Given the description of an element on the screen output the (x, y) to click on. 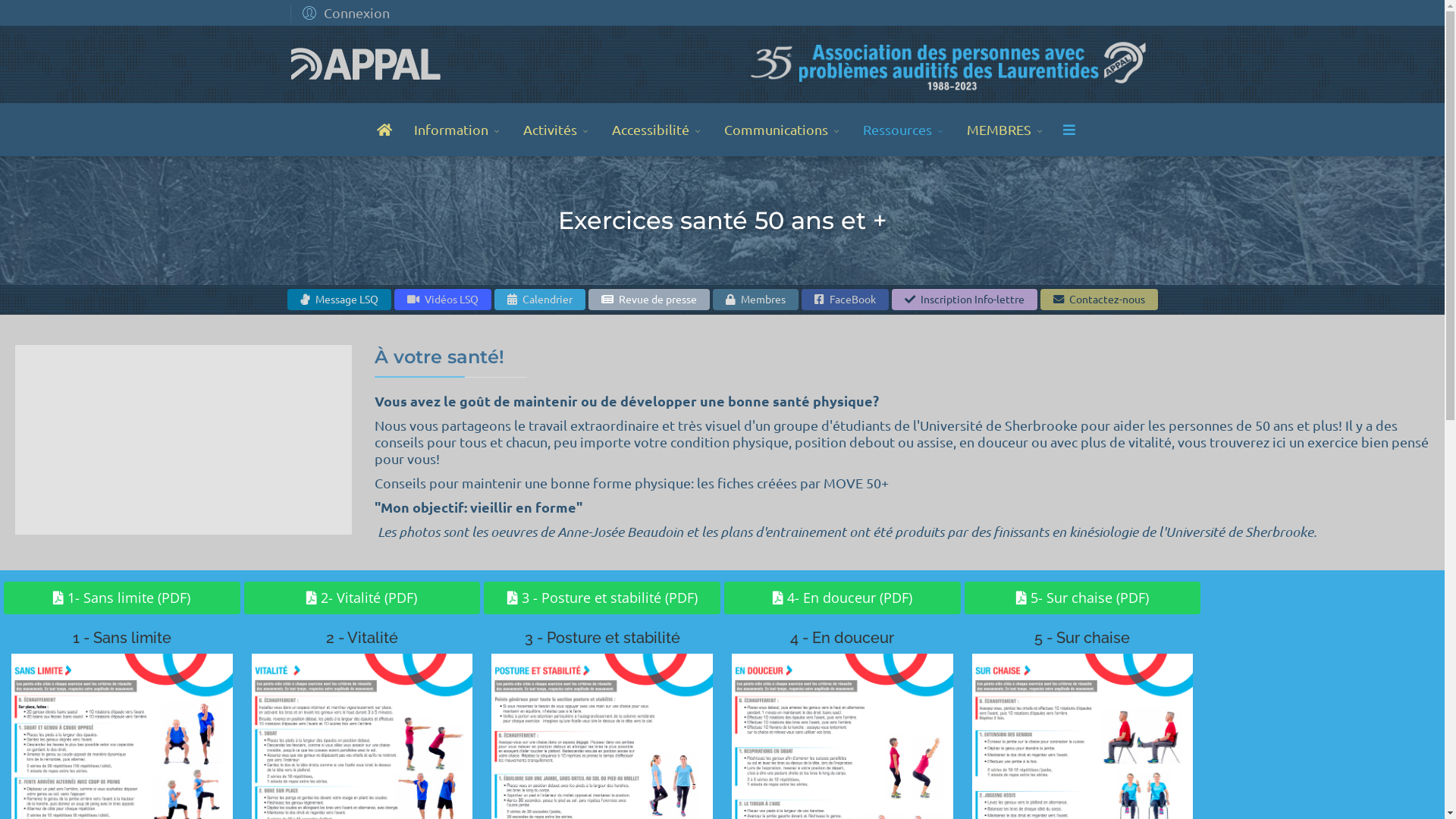
FaceBook Element type: text (844, 299)
Information Element type: text (459, 129)
MEMBRES Element type: text (1007, 129)
4- En douceur (PDF) Element type: text (842, 597)
5- Sur chaise (PDF) Element type: text (1082, 597)
Membres Element type: text (755, 299)
Ressources Element type: text (905, 129)
Message LSQ Element type: text (338, 299)
Communications Element type: text (784, 129)
Revue de presse Element type: text (648, 299)
Contactez-nous Element type: text (1098, 299)
Connexion Element type: text (342, 11)
Menu Element type: hover (1069, 129)
YouTube video player Element type: hover (183, 439)
Calendrier Element type: text (539, 299)
1- Sans limite (PDF) Element type: text (121, 597)
Inscription Info-lettre Element type: text (964, 299)
